Given the description of an element on the screen output the (x, y) to click on. 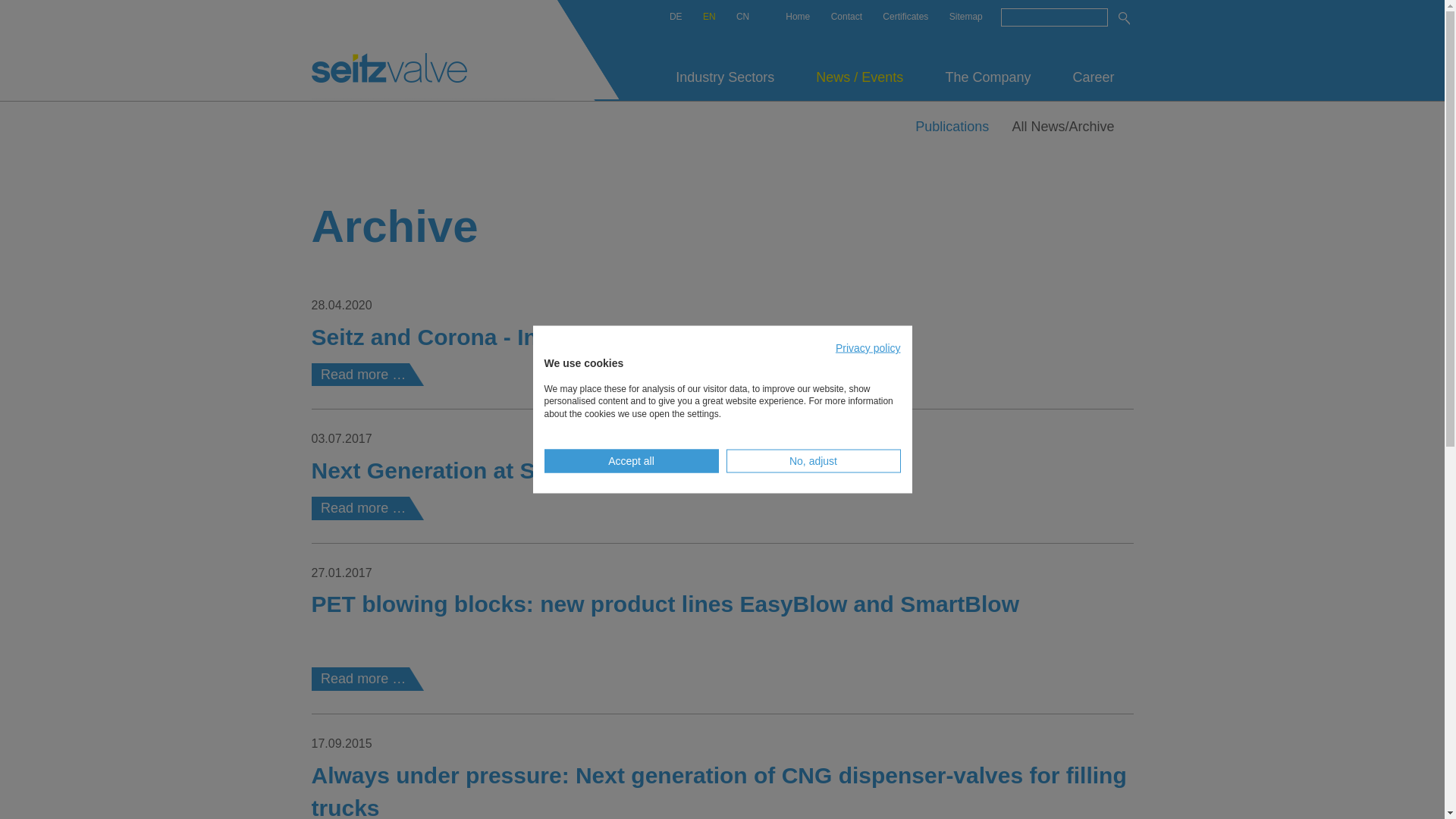
Home (797, 16)
The Company (987, 80)
Home (388, 67)
Publications (956, 125)
Certificates (905, 16)
Contact (846, 16)
Home - Seitz AG (797, 16)
search website (1125, 18)
Industry Sectors (724, 80)
Sitemap (965, 16)
